Given the description of an element on the screen output the (x, y) to click on. 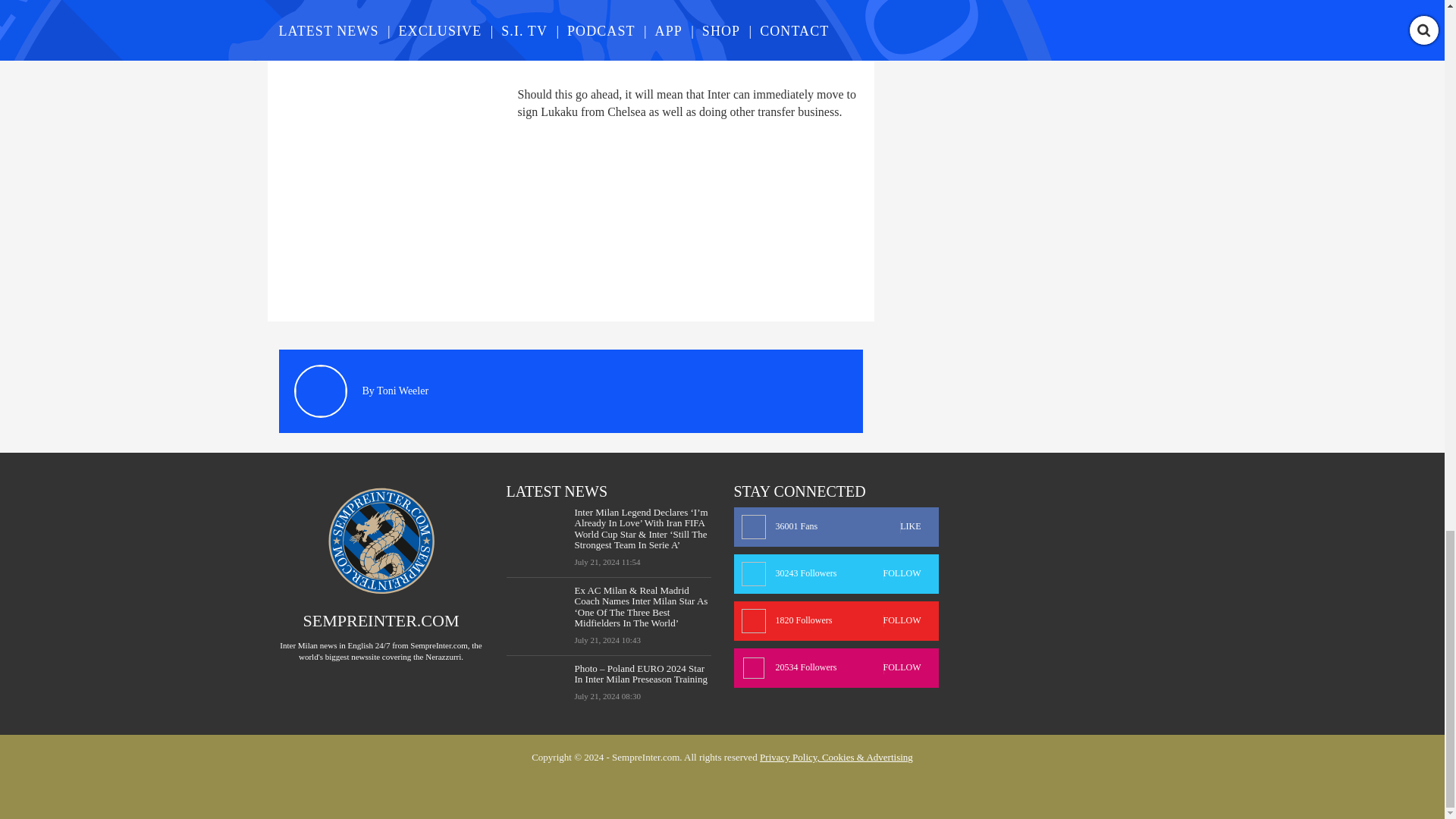
YouTube video player (491, 34)
Toni Weeler (402, 390)
SEMPREINTER.COM (381, 619)
View more articles by Toni Weeler (402, 390)
